Given the description of an element on the screen output the (x, y) to click on. 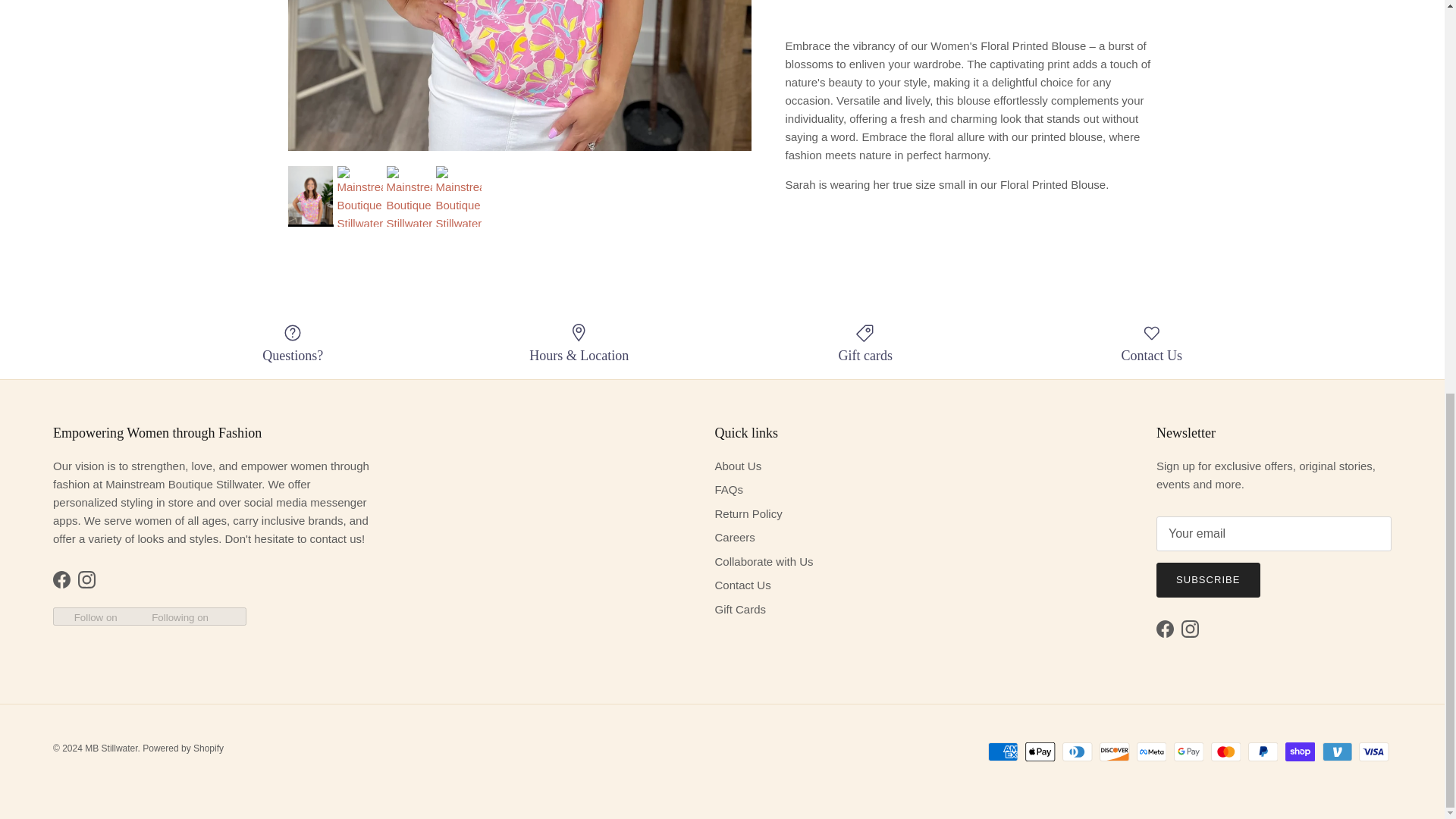
Diners Club (1077, 751)
MB Stillwater on Facebook (60, 579)
American Express (1002, 751)
Discover (1114, 751)
MB Stillwater on Facebook (1164, 628)
Meta Pay (1151, 751)
MB Stillwater on Instagram (1189, 628)
Google Pay (1188, 751)
MB Stillwater on Instagram (87, 579)
Apple Pay (1040, 751)
